Given the description of an element on the screen output the (x, y) to click on. 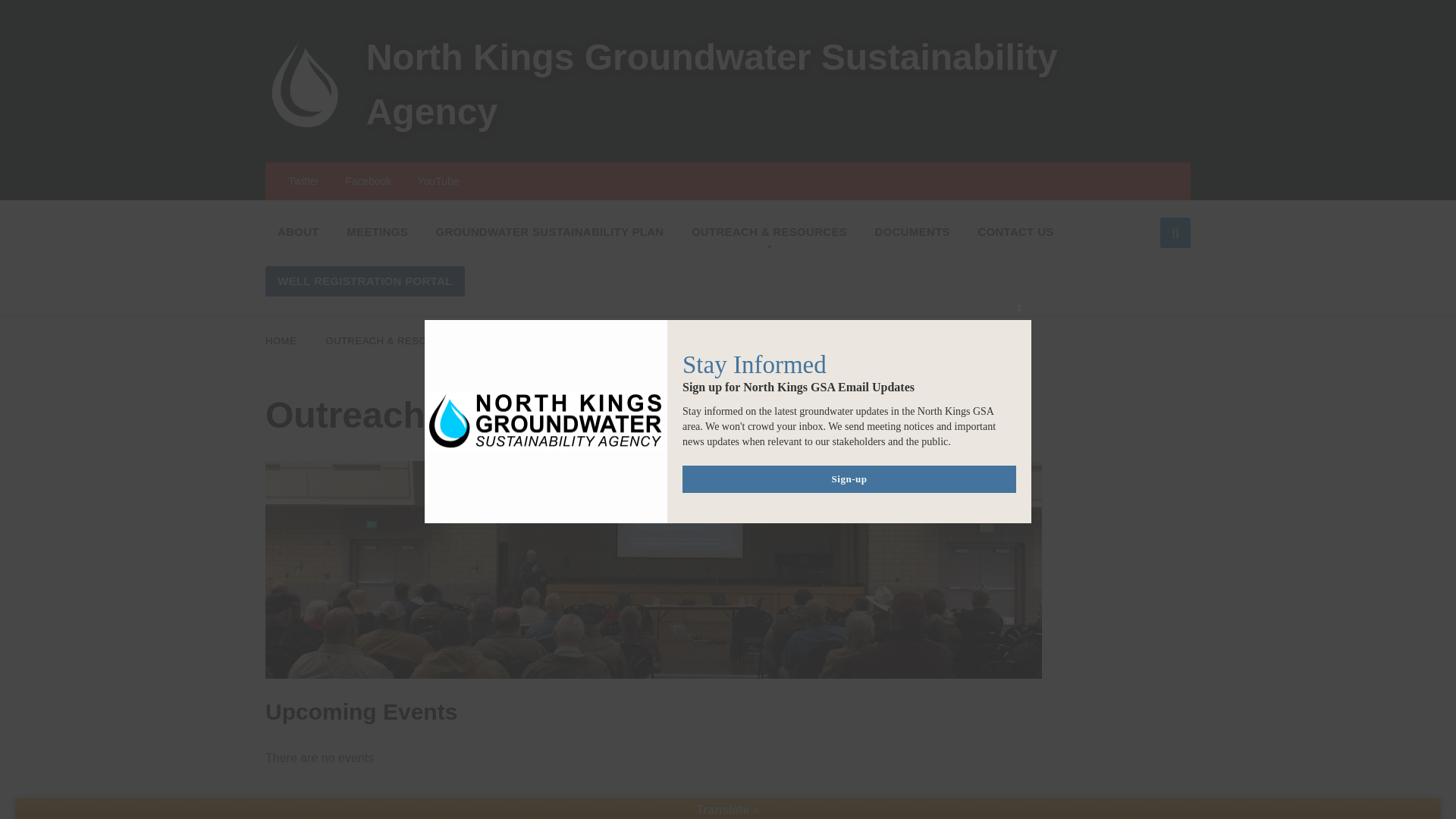
ABOUT (297, 232)
DOCUMENTS (912, 232)
North Kings Groundwater Sustainability Agency (712, 83)
CONTACT US (1015, 232)
GROUNDWATER SUSTAINABILITY PLAN (549, 232)
Facebook (368, 181)
MEETINGS (377, 232)
YouTube (437, 181)
Expand search (1175, 232)
Twitter (303, 181)
